Given the description of an element on the screen output the (x, y) to click on. 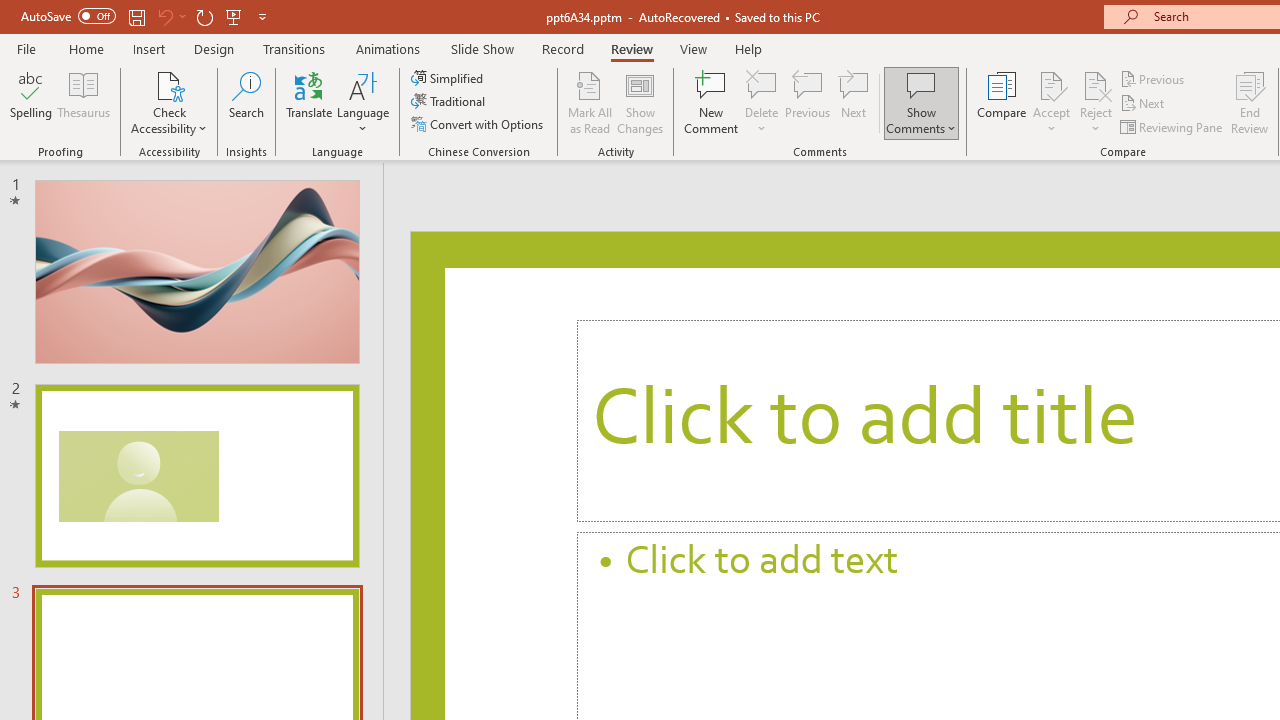
Accept Change (1051, 84)
Reject (1096, 102)
Thesaurus... (83, 102)
Translate (309, 102)
Accept (1051, 102)
Reject Change (1096, 84)
